Given the description of an element on the screen output the (x, y) to click on. 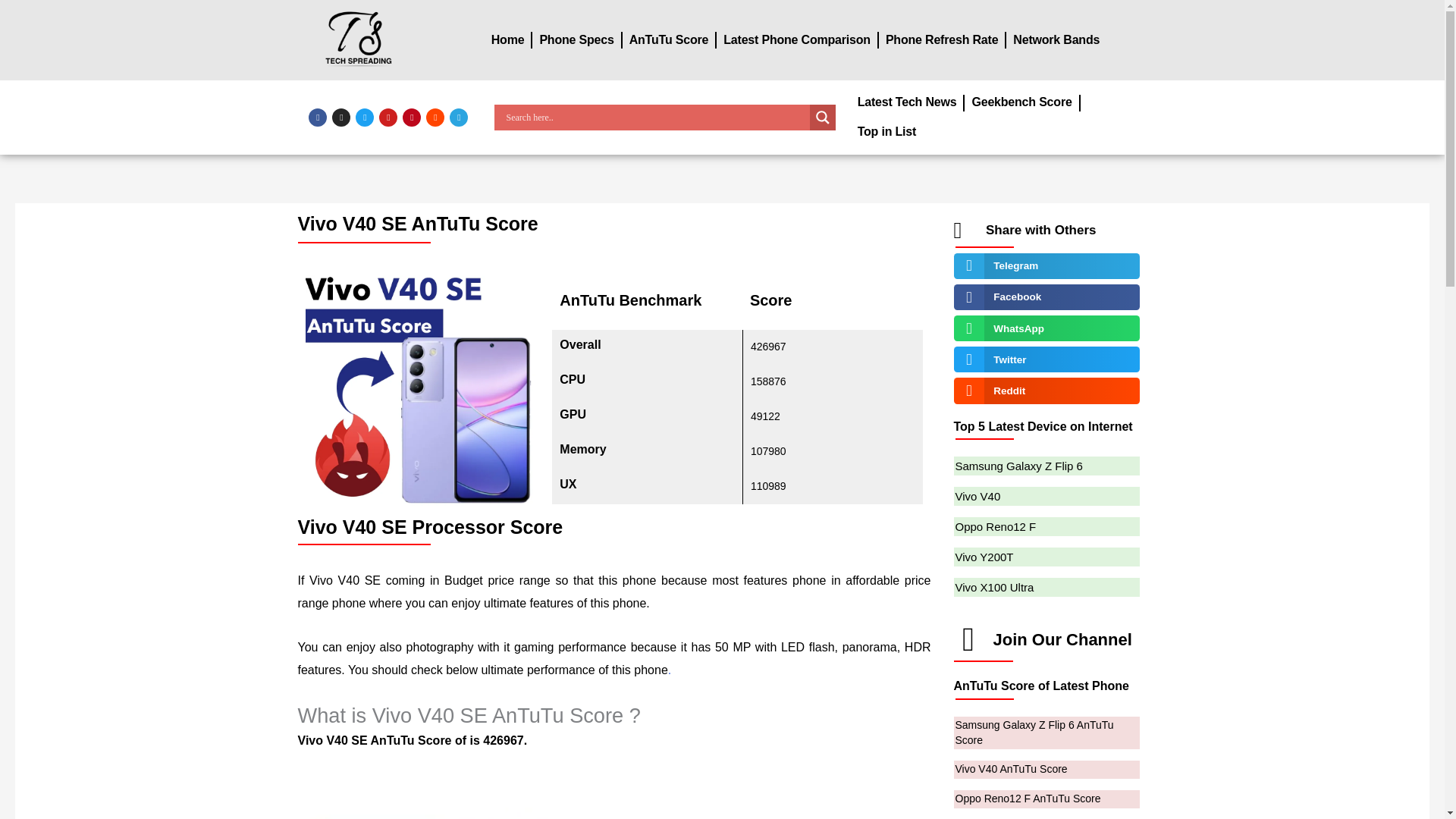
Oppo Reno12 F (995, 526)
Vivo X100 Ultra (994, 586)
Telegram (458, 117)
Phone Refresh Rate (941, 40)
Facebook (317, 117)
Vivo Y200T (984, 556)
Pinterest (411, 117)
Youtube (387, 117)
Latest Tech News (906, 102)
Top in List (886, 132)
Twitter (364, 117)
Latest Phone Comparison (796, 40)
Home (507, 40)
Instagram (340, 117)
Geekbench Score (1020, 102)
